Given the description of an element on the screen output the (x, y) to click on. 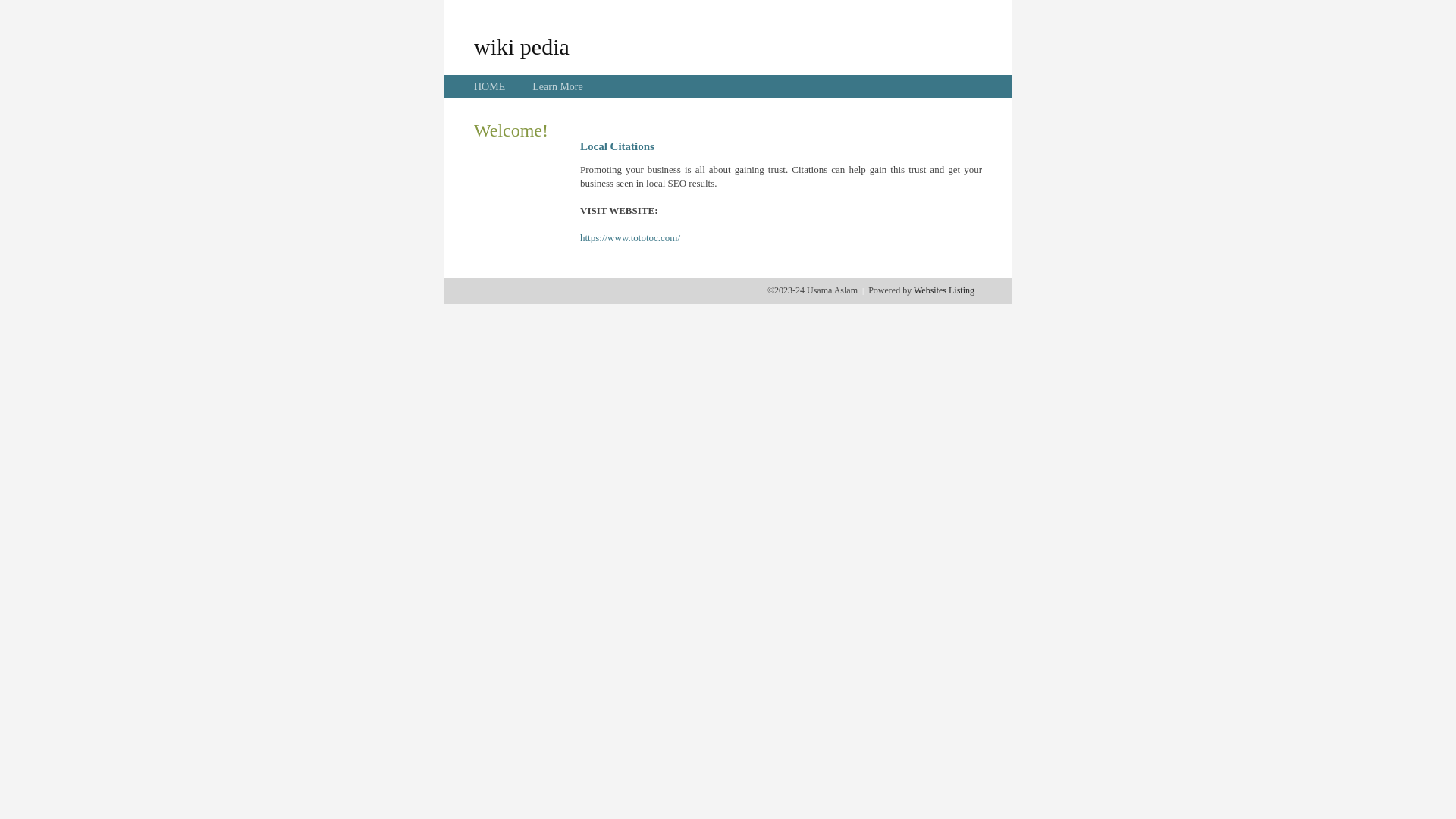
wiki pedia Element type: text (521, 46)
Websites Listing Element type: text (943, 290)
https://www.tototoc.com/ Element type: text (630, 237)
HOME Element type: text (489, 86)
Learn More Element type: text (557, 86)
